Given the description of an element on the screen output the (x, y) to click on. 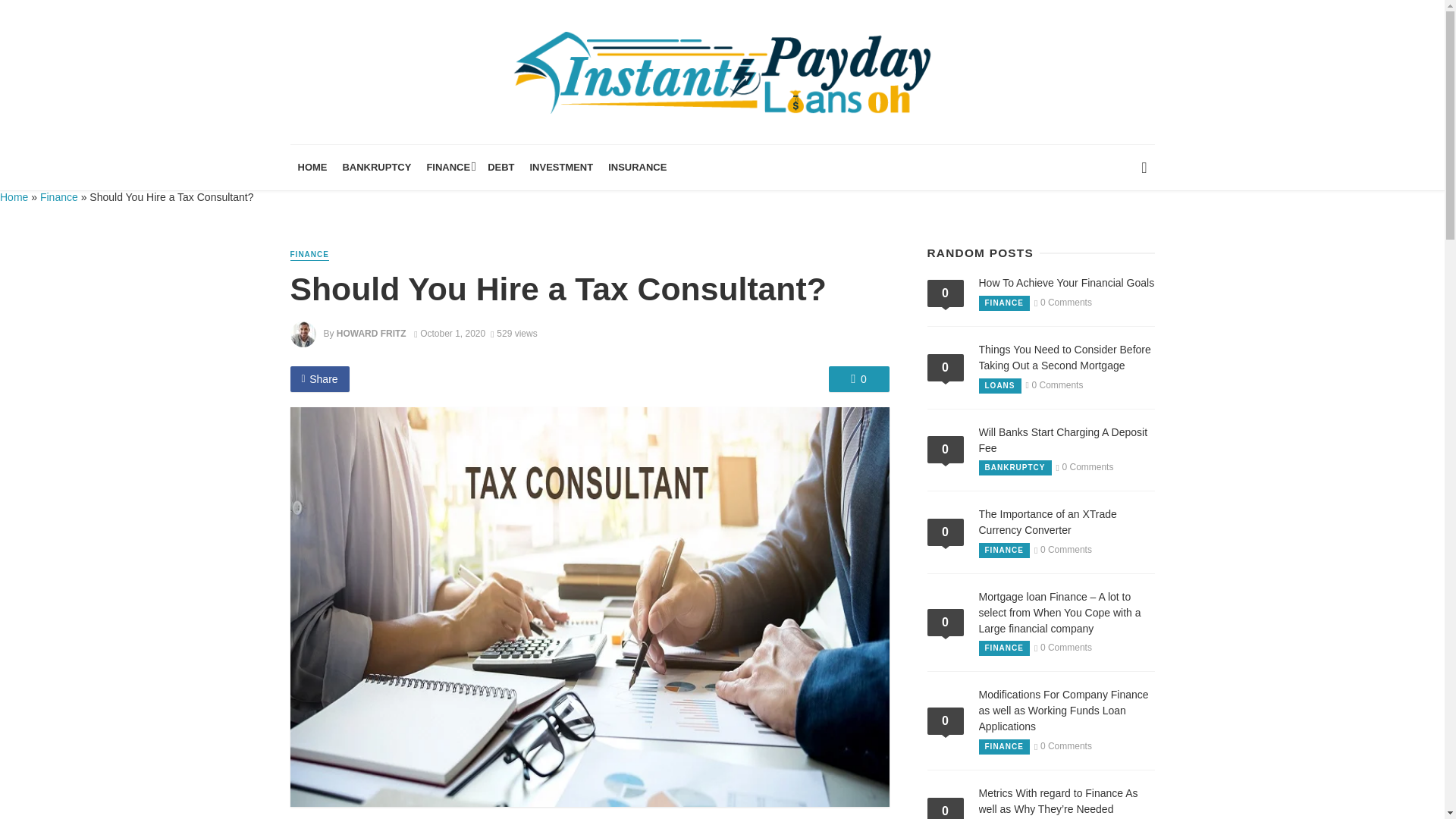
Share (319, 379)
Posts by Howard Fritz (371, 333)
Finance (59, 196)
Home (13, 196)
October 1, 2020 at 5:23 am (448, 333)
0 Comments (858, 379)
FINANCE (1003, 303)
FINANCE (449, 167)
0 (944, 293)
0 Comments (1062, 302)
0 (858, 379)
HOWARD FRITZ (371, 333)
HOME (311, 167)
0 Comments (944, 293)
